Given the description of an element on the screen output the (x, y) to click on. 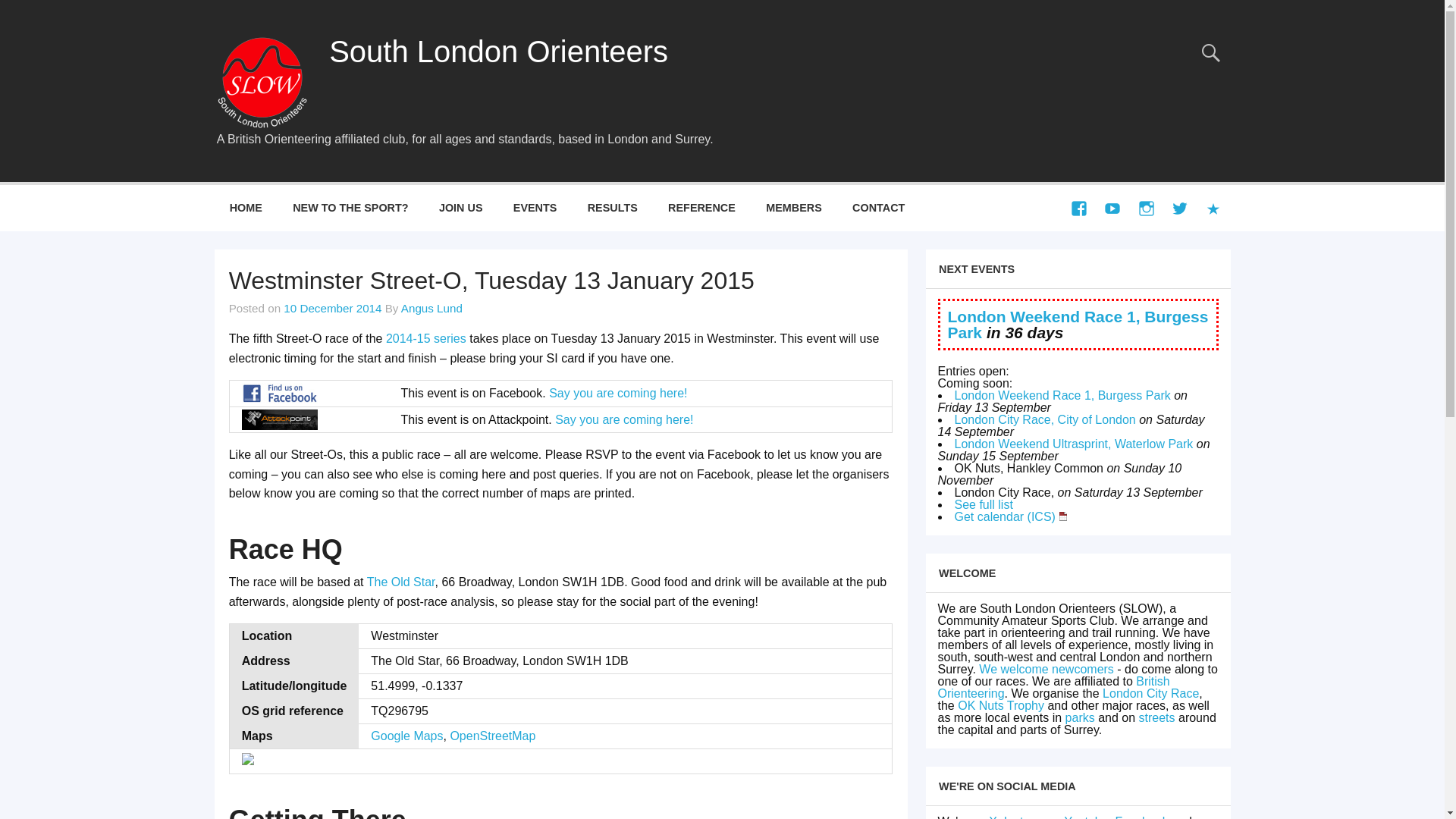
REFERENCE (701, 207)
RESULTS (612, 207)
View all posts by Angus Lund (432, 308)
21:55 (332, 308)
EVENTS (534, 207)
JOIN US (460, 207)
MEMBERS (794, 207)
This event is on Facebook (279, 393)
This event is on Attackpoint (279, 419)
NEW TO THE SPORT? (350, 207)
